Given the description of an element on the screen output the (x, y) to click on. 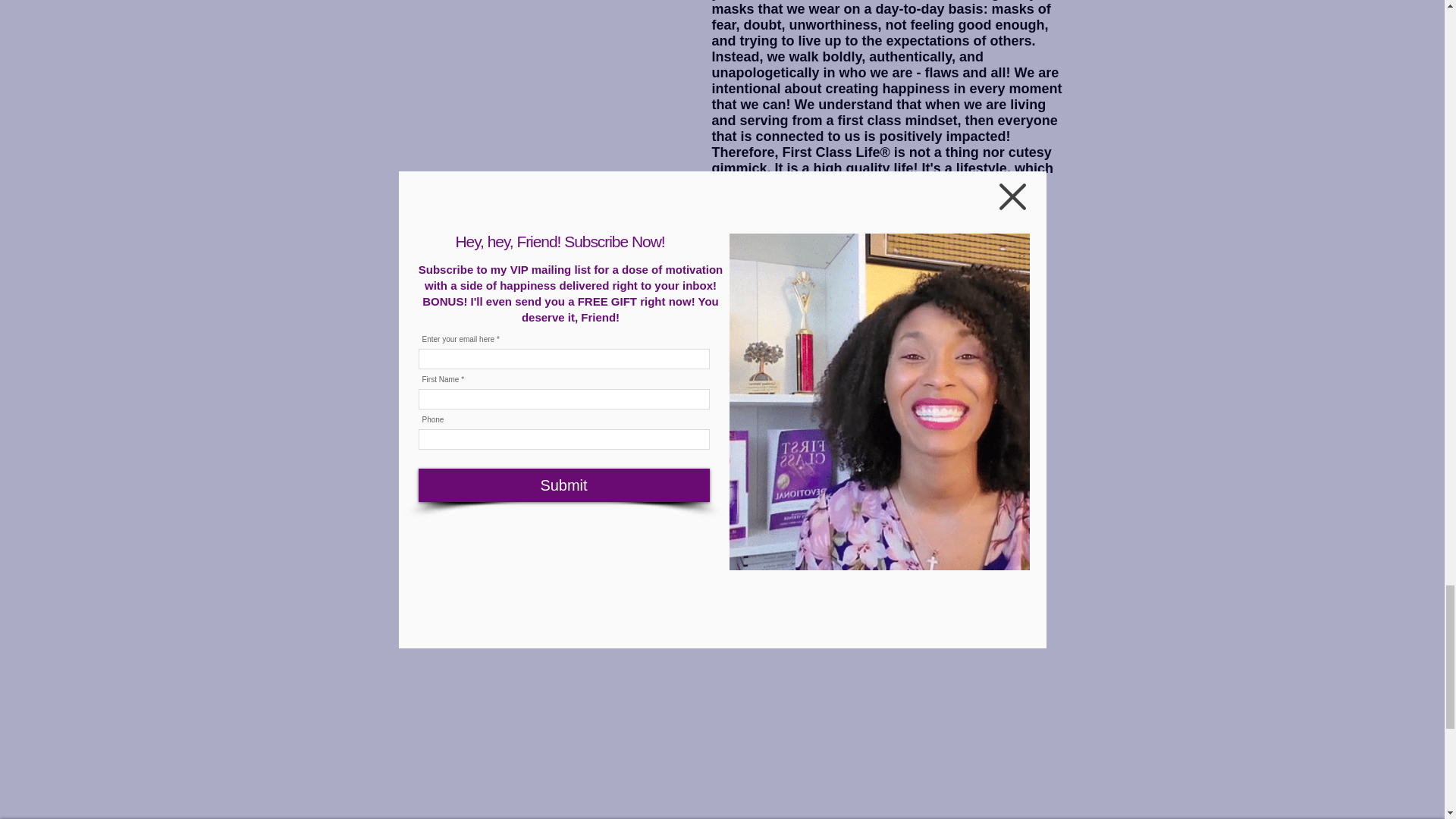
Yes, I Deserve A FCL! (866, 262)
